Given the description of an element on the screen output the (x, y) to click on. 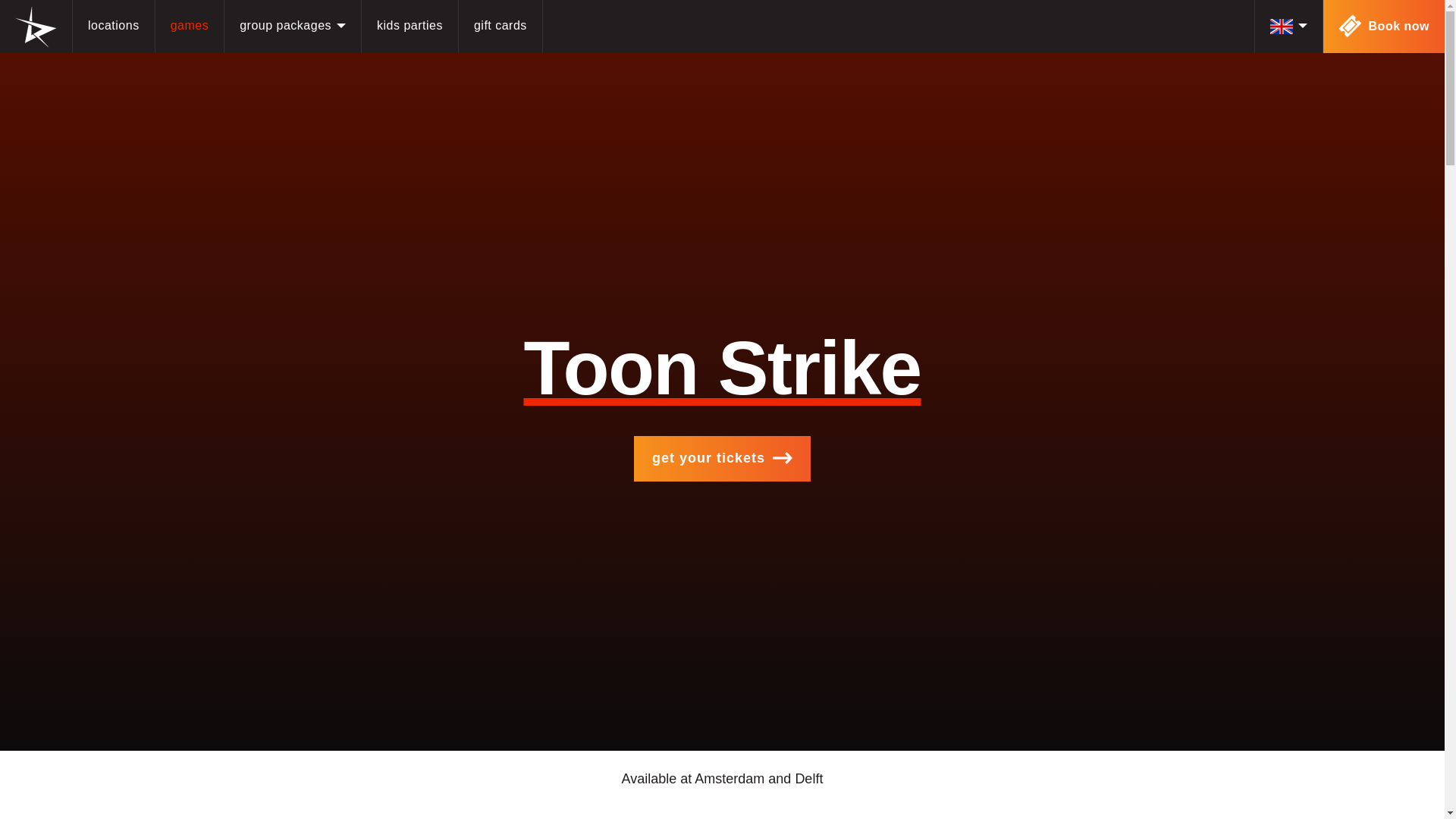
kids parties (409, 26)
Lightning VR (35, 26)
group packages (292, 26)
gift cards (500, 26)
games (190, 26)
locations (113, 26)
en (1287, 26)
get your tickets (721, 458)
Lightning VR (35, 26)
